Given the description of an element on the screen output the (x, y) to click on. 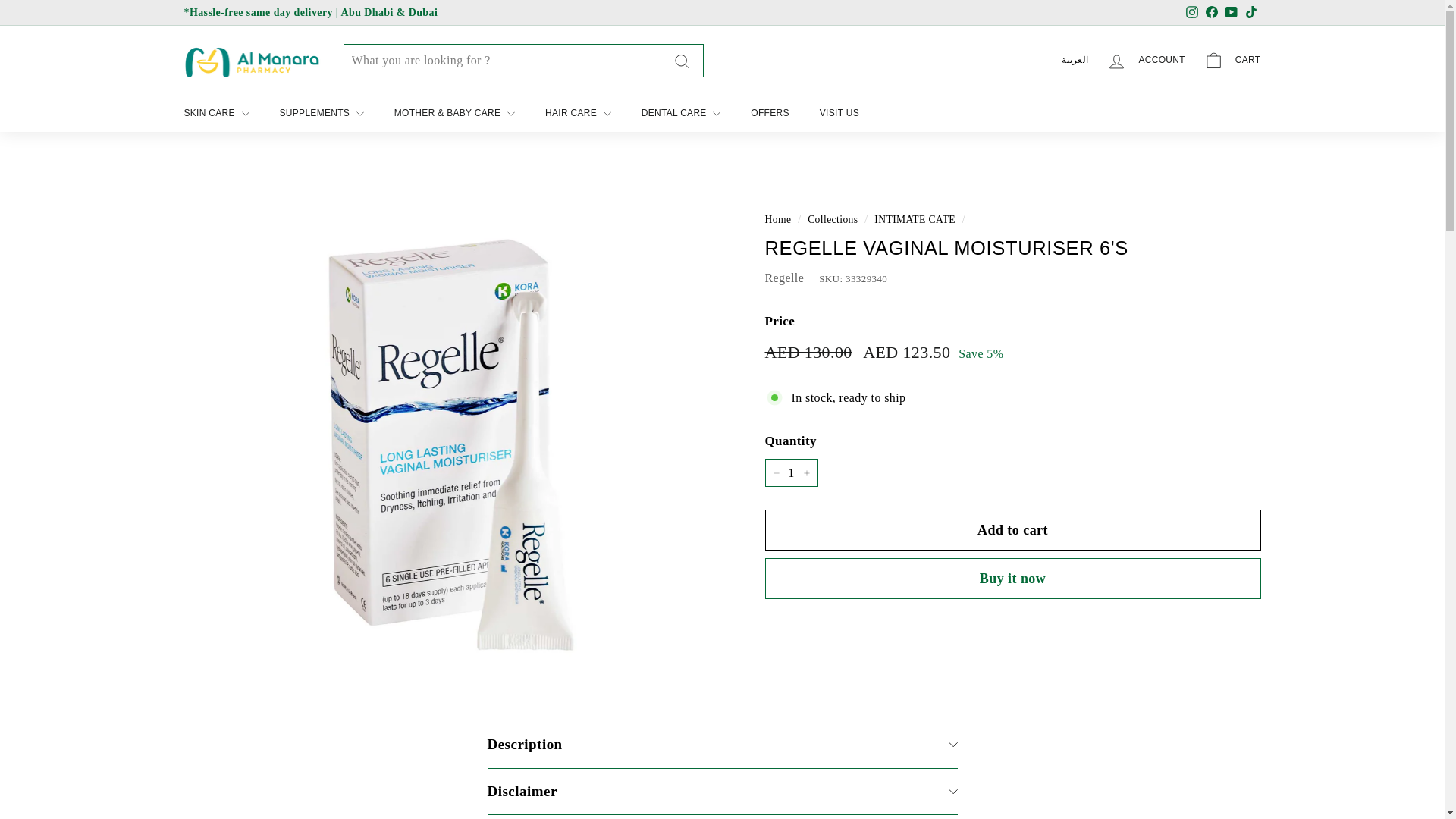
Regelle (783, 277)
Al Manara Pharmacy on Instagram (1190, 12)
Facebook (1211, 12)
Al Manara Pharmacy on Facebook (1211, 12)
Al Manara Pharmacy on TikTok (1250, 12)
1 (790, 472)
Al Manara Pharmacy on YouTube (1230, 12)
ACCOUNT (1145, 60)
TikTok (1250, 12)
instagram (1192, 11)
YouTube (1230, 12)
Back to the frontpage (777, 219)
